Given the description of an element on the screen output the (x, y) to click on. 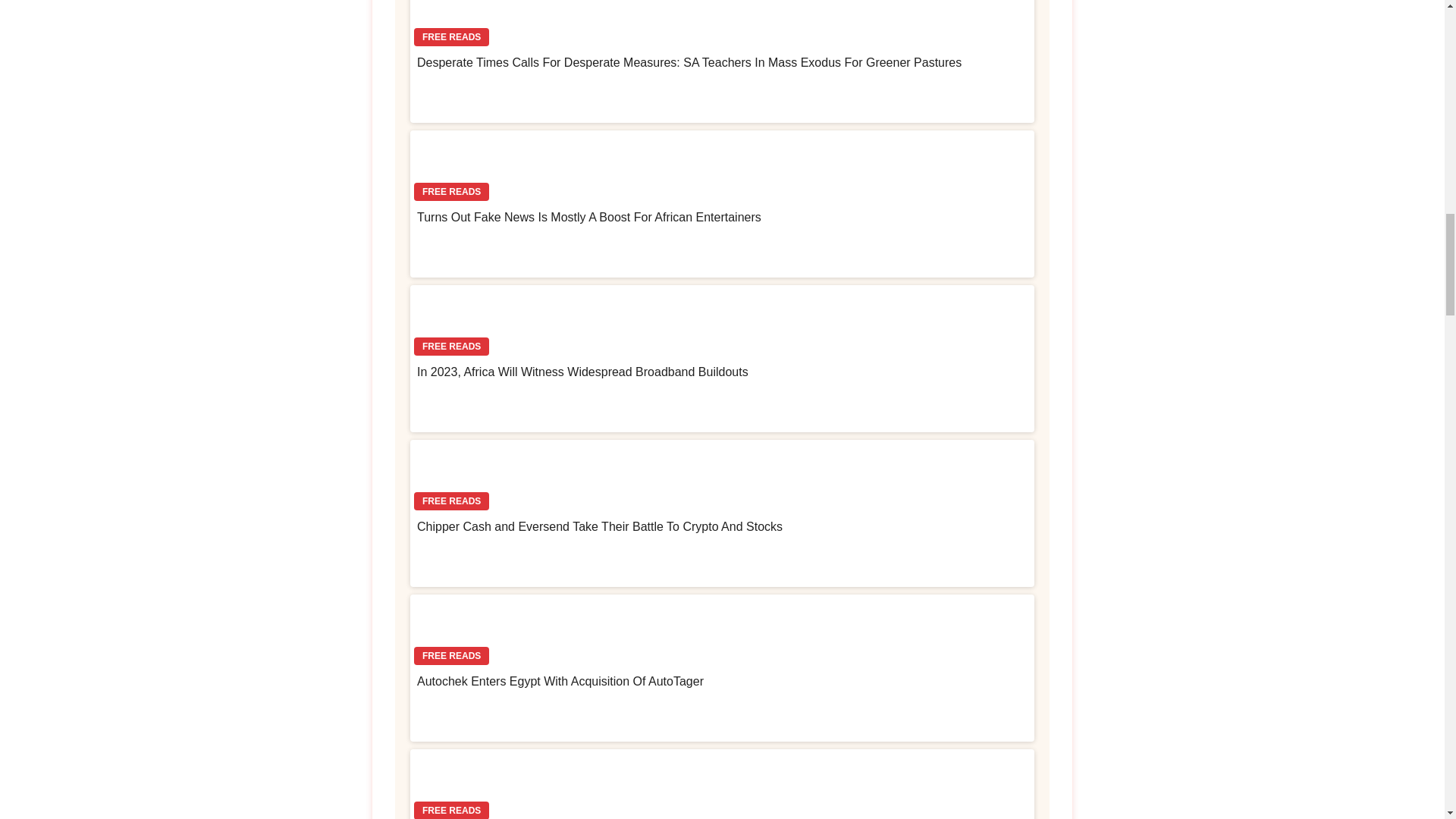
FREE READS (721, 168)
FREE READS (721, 25)
